Given the description of an element on the screen output the (x, y) to click on. 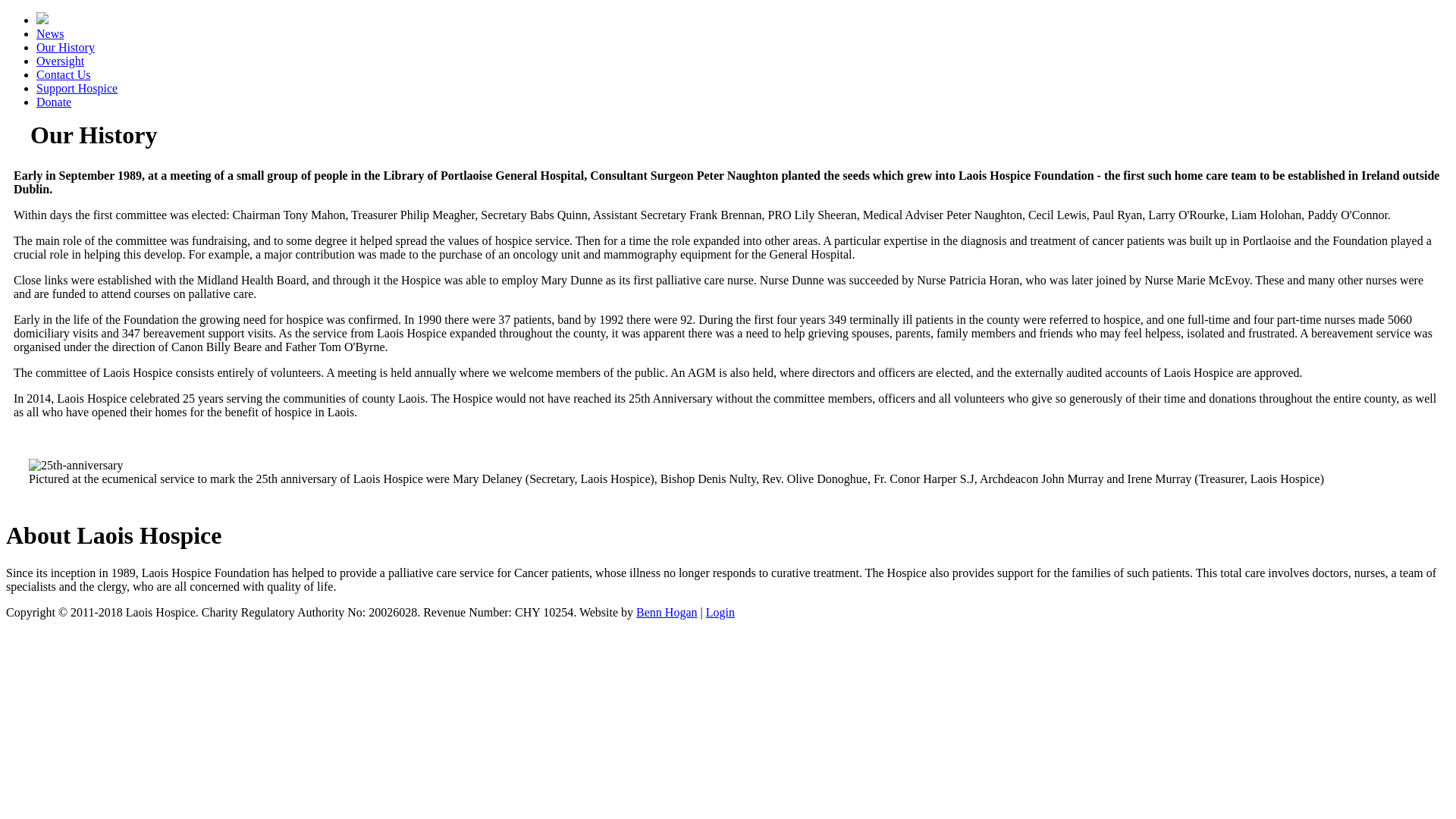
Support Hospice (76, 88)
25th-anniversary (75, 465)
Oversight (60, 60)
Contact Us (63, 74)
News (50, 33)
Our History (65, 47)
Donate (53, 101)
